Given the description of an element on the screen output the (x, y) to click on. 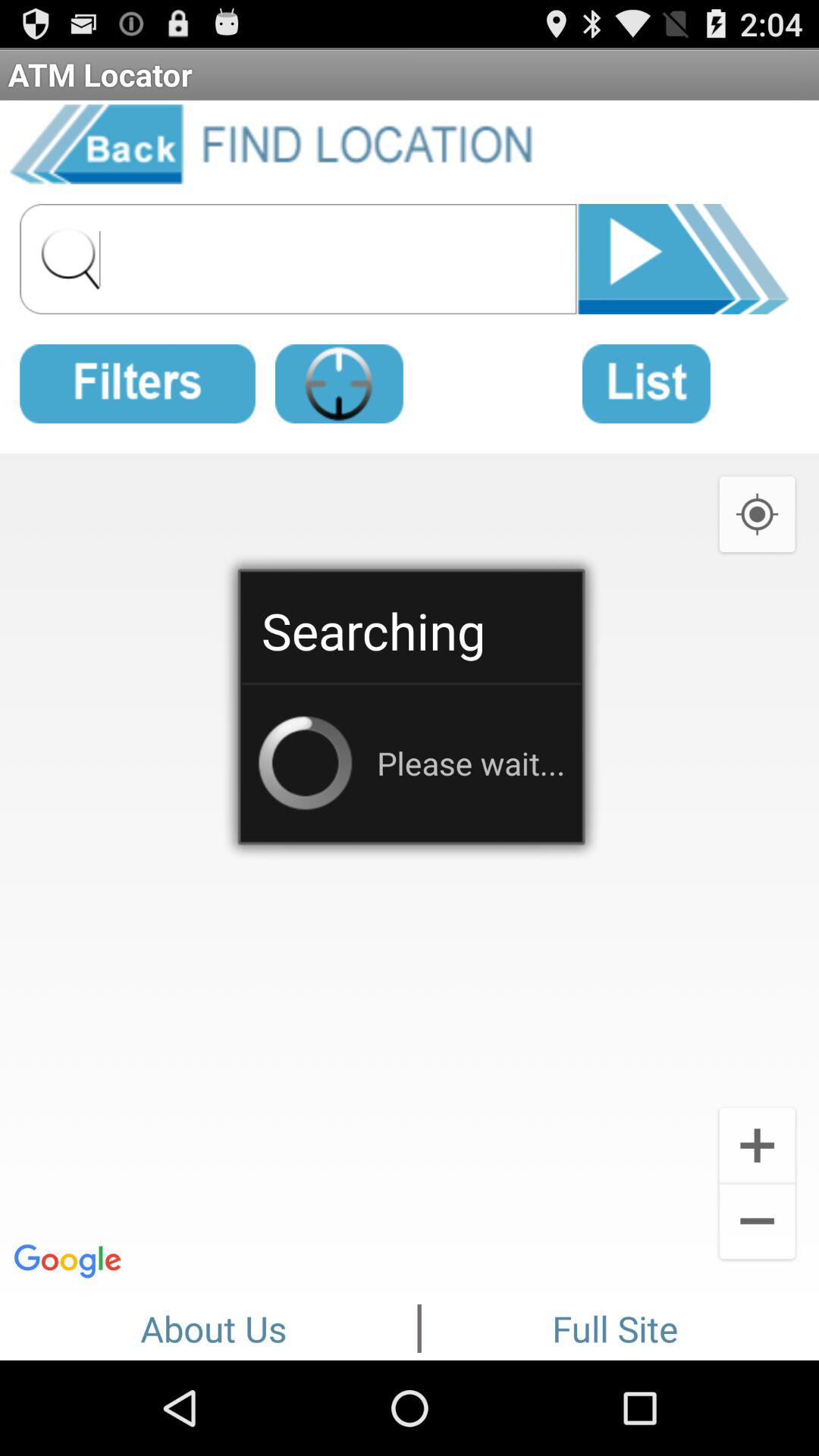
select icon at the center (409, 871)
